Given the description of an element on the screen output the (x, y) to click on. 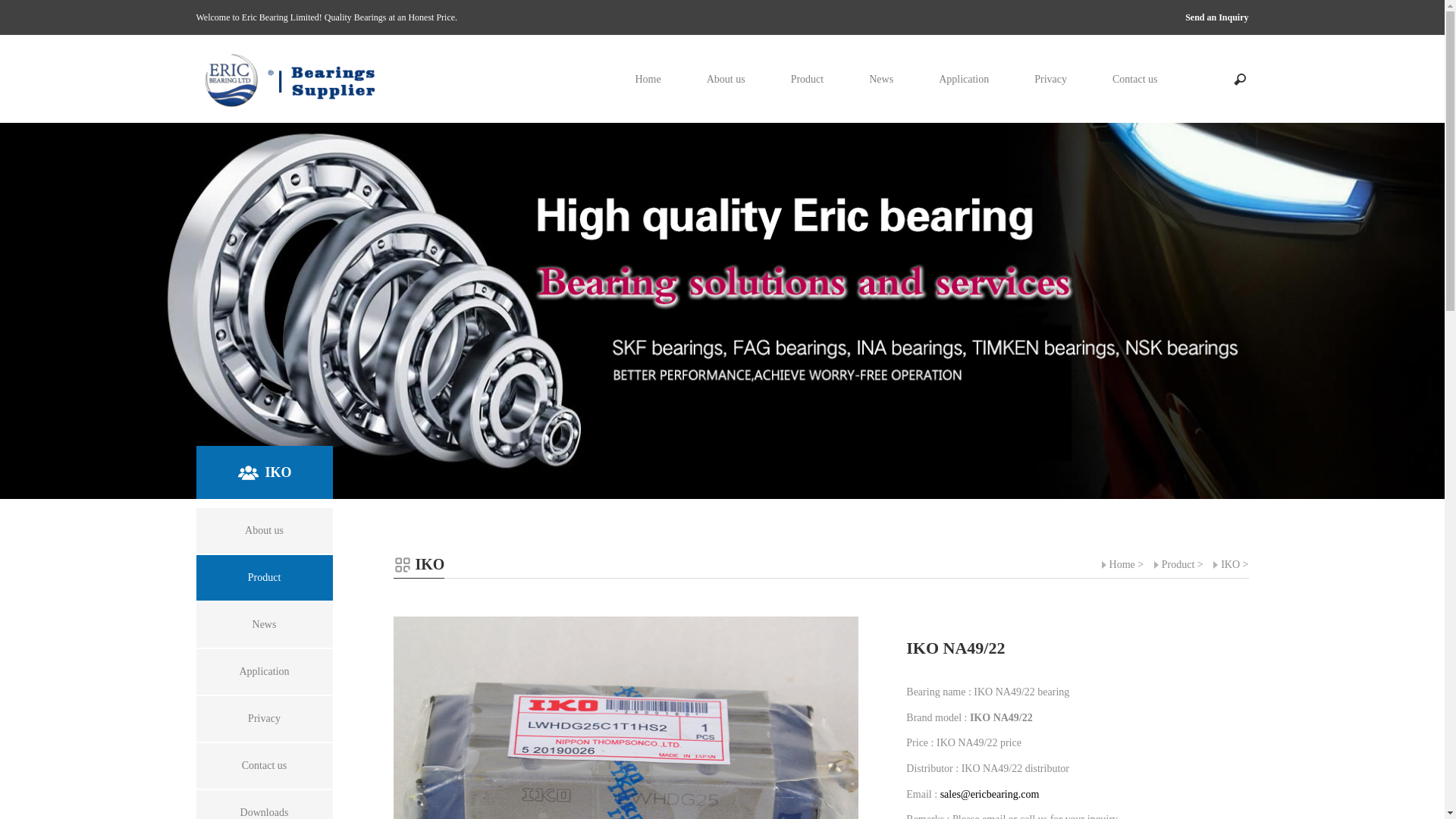
Product Element type: text (1174, 564)
Product Element type: text (263, 577)
Contact us Element type: text (263, 765)
Send an Inquiry Element type: text (1216, 17)
News Element type: text (881, 78)
About us Element type: text (725, 78)
Home Element type: text (648, 78)
Privacy Element type: text (1050, 78)
Privacy Element type: text (263, 718)
IKO Element type: text (1226, 564)
sales@ericbearing.com Element type: text (989, 794)
Product Element type: text (807, 78)
Application Element type: text (963, 78)
News Element type: text (263, 624)
eric-skf-bearing Element type: hover (722, 310)
Home Element type: text (1118, 564)
Contact us Element type: text (1134, 78)
Application Element type: text (263, 671)
About us Element type: text (263, 530)
